Given the description of an element on the screen output the (x, y) to click on. 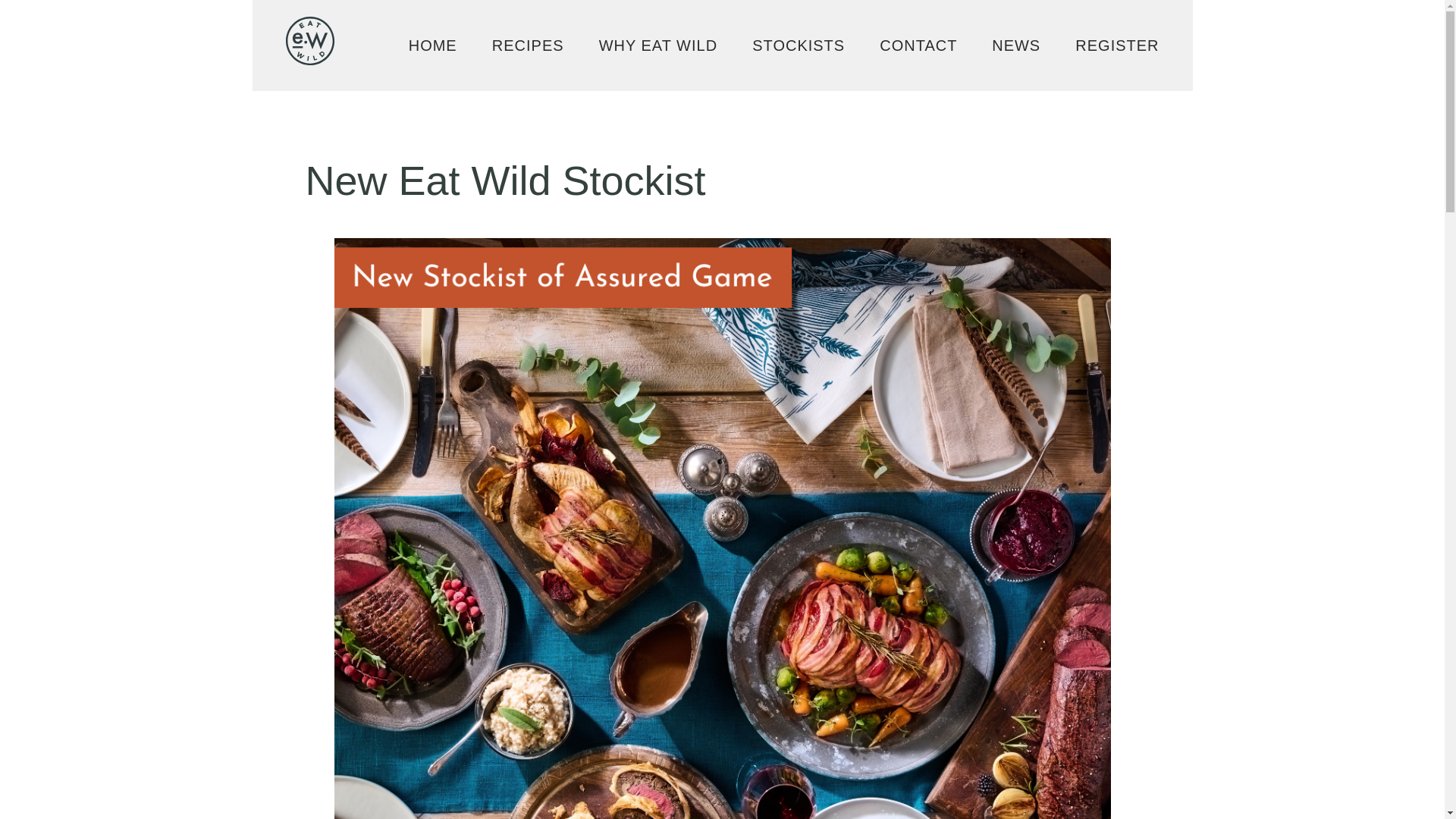
REGISTER (1116, 44)
STOCKISTS (798, 44)
NEWS (1016, 44)
HOME (433, 44)
WHY EAT WILD (657, 44)
CONTACT (917, 44)
RECIPES (528, 44)
